Given the description of an element on the screen output the (x, y) to click on. 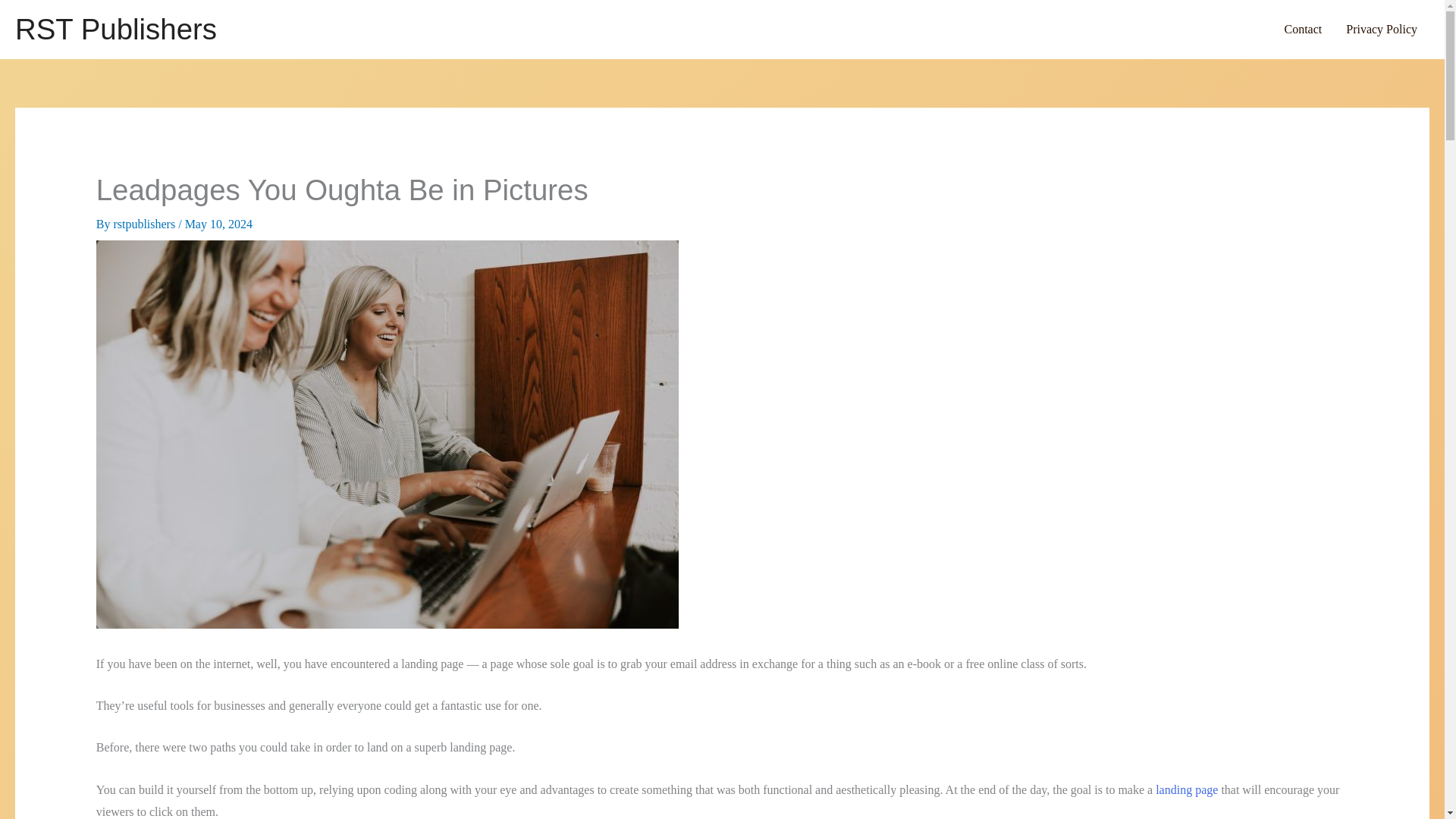
Privacy Policy (1381, 29)
RST Publishers (115, 29)
Contact (1302, 29)
View all posts by rstpublishers (145, 223)
rstpublishers (145, 223)
landing page (1186, 789)
